Given the description of an element on the screen output the (x, y) to click on. 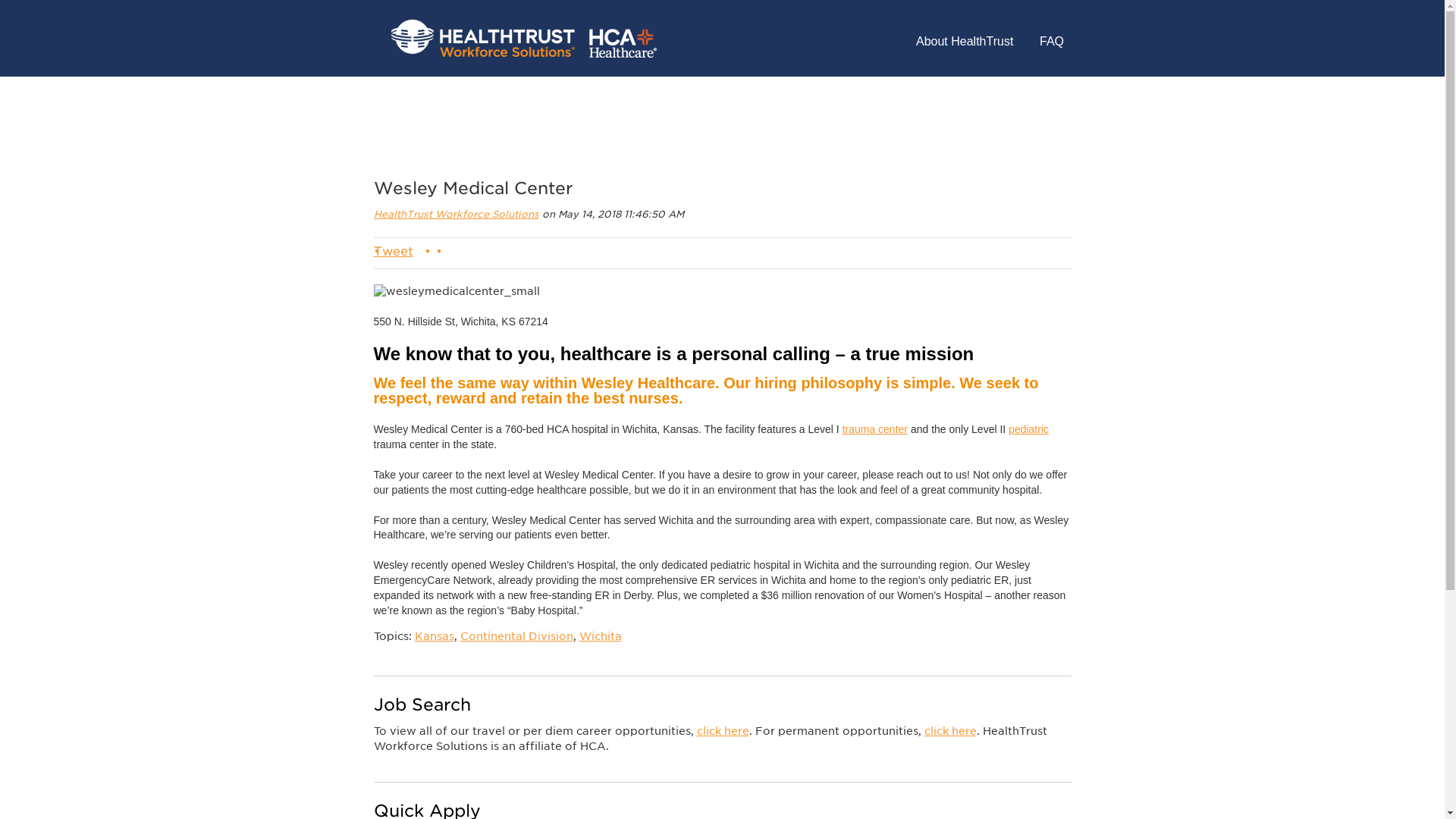
trauma center (875, 428)
Kansas (432, 635)
About HealthTrust (964, 41)
FAQ (1051, 41)
HCA.HWS-1 (523, 37)
HealthTrust Workforce Solutions (455, 214)
click here (949, 730)
Continental Division (516, 635)
Tweet (392, 251)
click here (721, 730)
Wichita (600, 635)
pediatric (1028, 428)
